Given the description of an element on the screen output the (x, y) to click on. 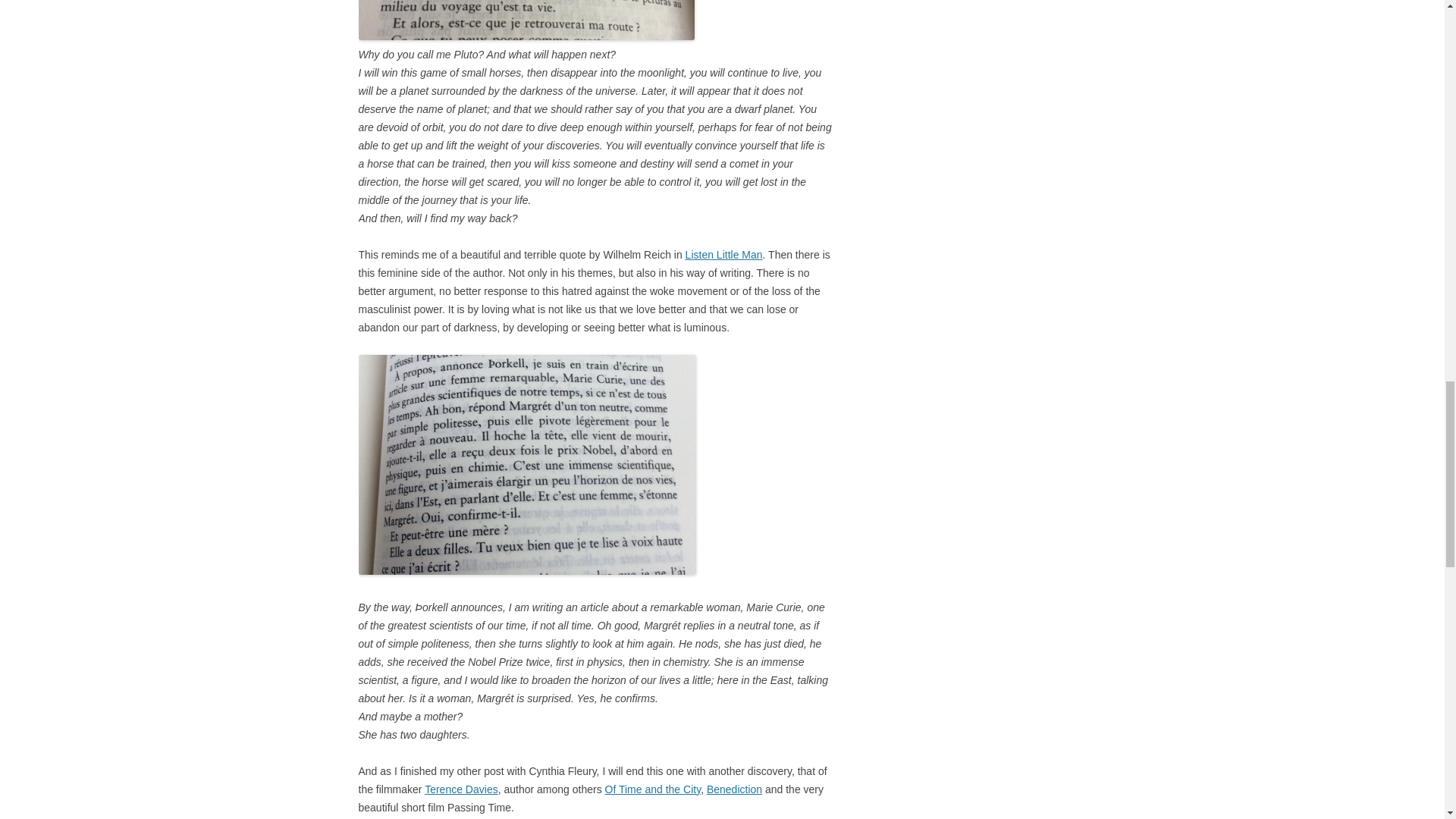
Listen Little Man (723, 254)
Benediction (733, 788)
Terence Davies (461, 788)
Of Time and the City (653, 788)
